Given the description of an element on the screen output the (x, y) to click on. 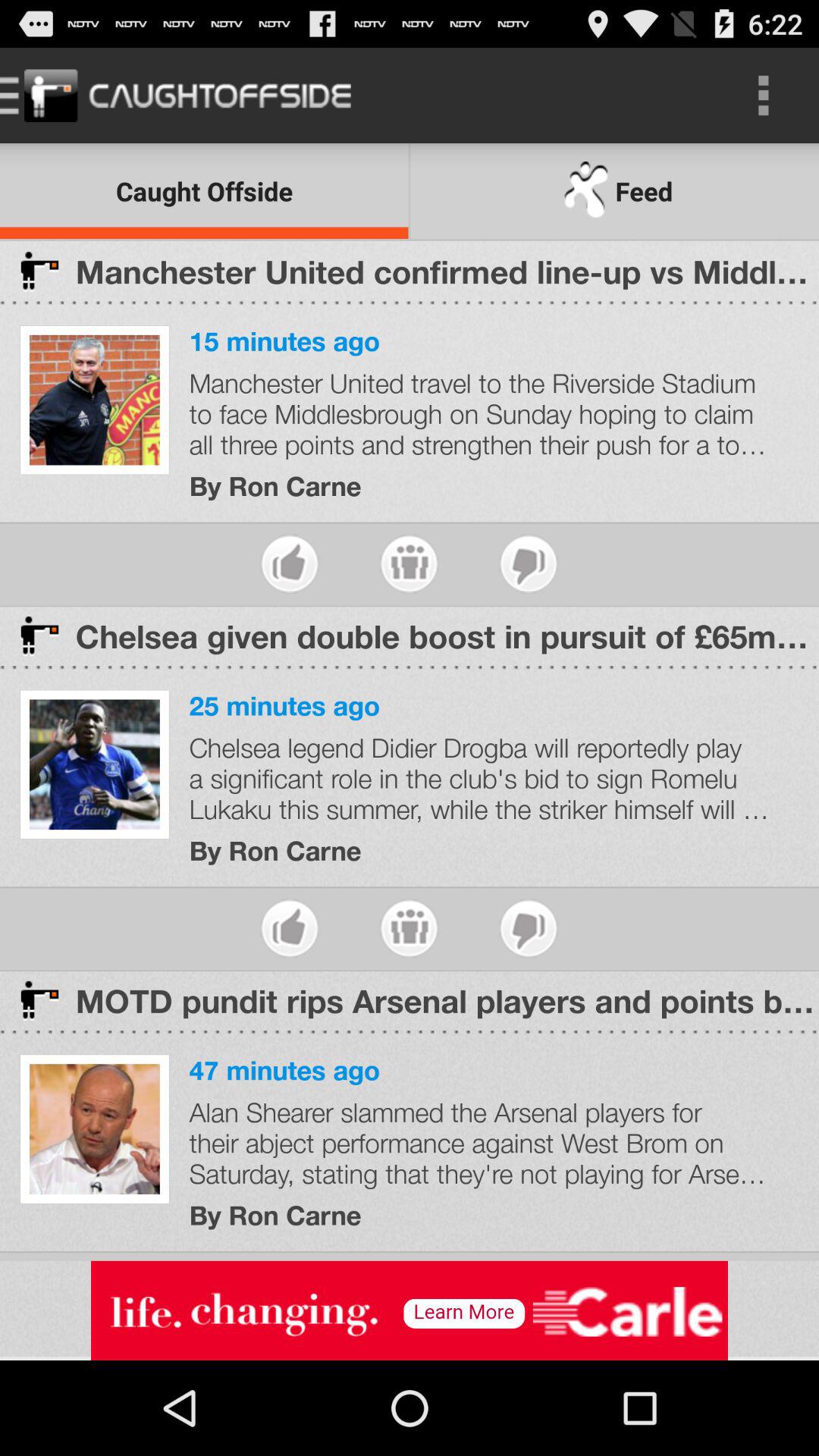
friendlist (409, 928)
